Given the description of an element on the screen output the (x, y) to click on. 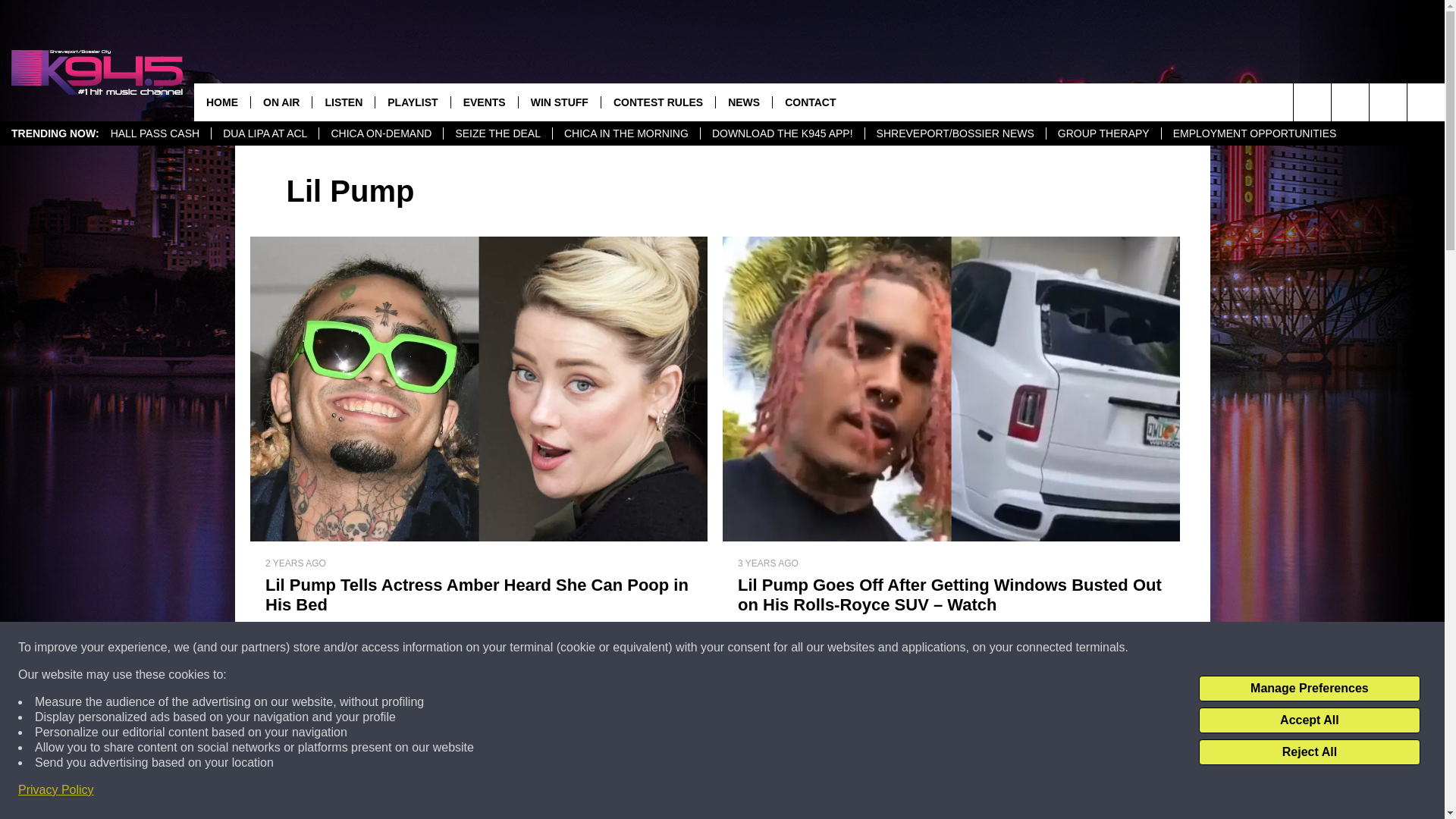
WIN STUFF (558, 102)
ON AIR (280, 102)
SEIZE THE DEAL (496, 133)
HALL PASS CASH (155, 133)
Reject All (1309, 751)
Accept All (1309, 720)
EMPLOYMENT OPPORTUNITIES (1254, 133)
DUA LIPA AT ACL (264, 133)
PLAYLIST (411, 102)
Privacy Policy (55, 789)
EVENTS (483, 102)
CHICA ON-DEMAND (380, 133)
CHICA IN THE MORNING (625, 133)
LISTEN (342, 102)
HOME (221, 102)
